Given the description of an element on the screen output the (x, y) to click on. 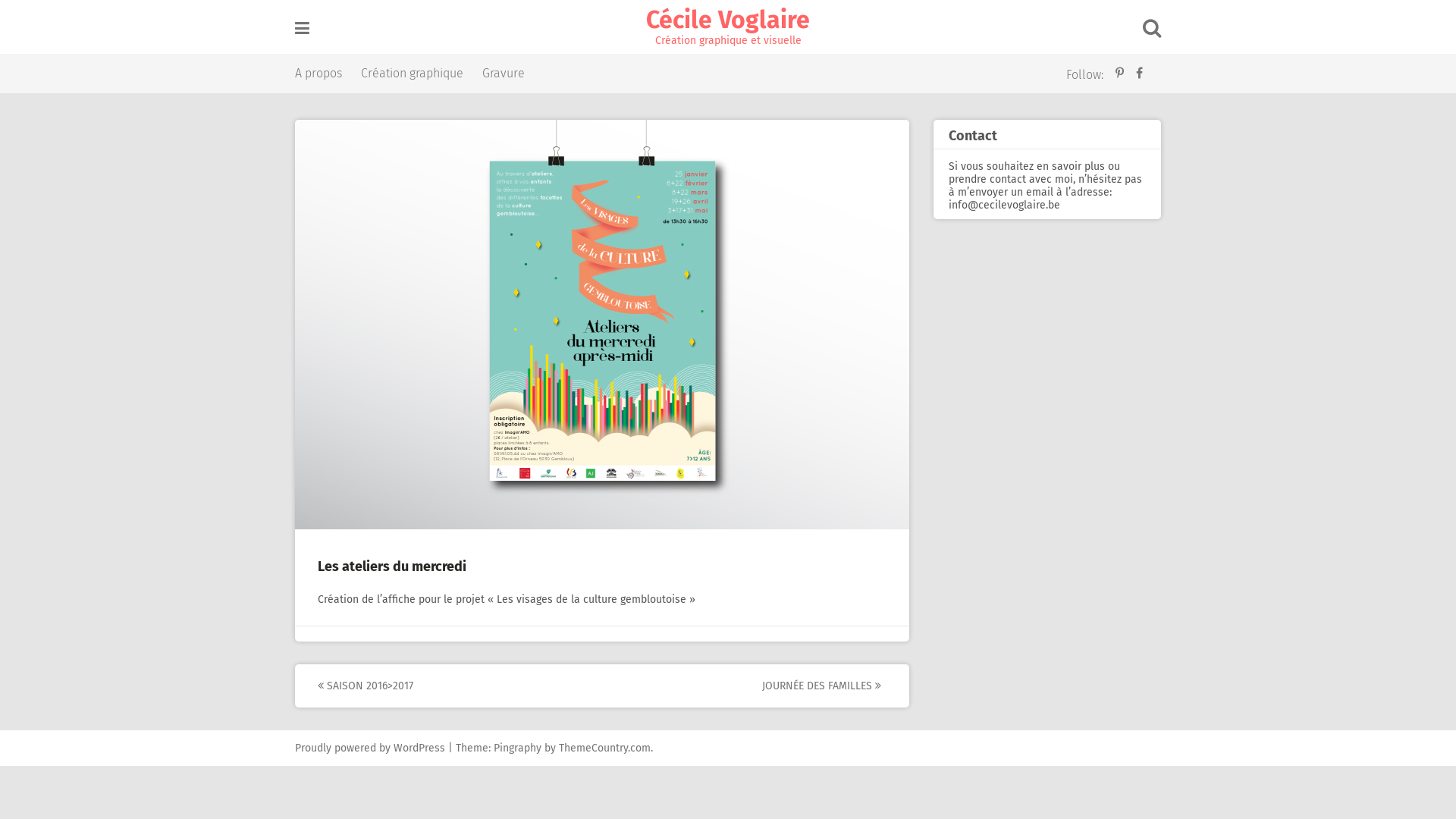
Skip to content Element type: text (0, 0)
ThemeCountry.com Element type: text (604, 747)
A propos Element type: text (318, 73)
Gravure Element type: text (503, 73)
SAISON 2016>2017 Element type: text (456, 685)
Proudly powered by WordPress Element type: text (369, 747)
